Given the description of an element on the screen output the (x, y) to click on. 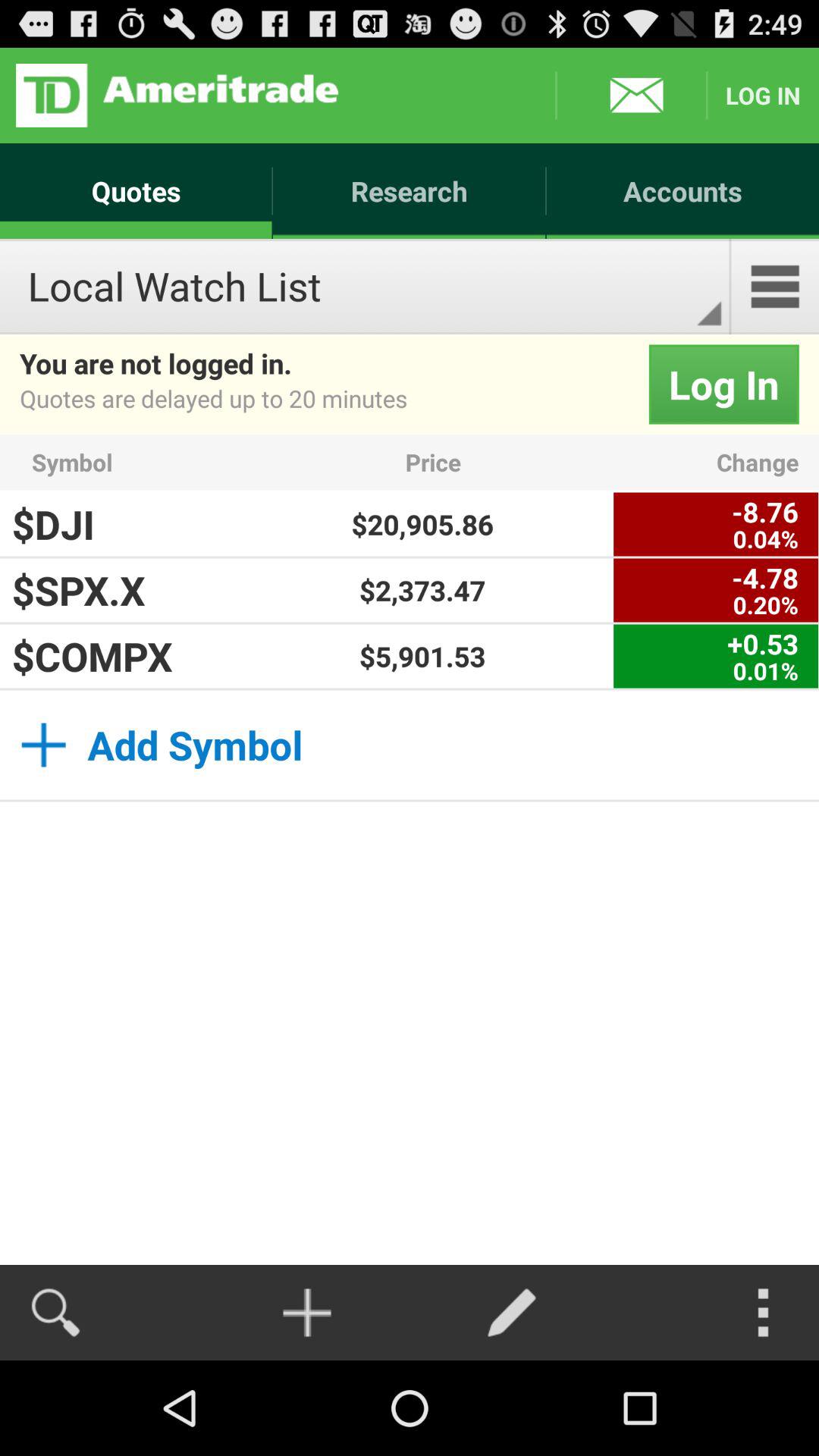
select the icon above log in item (775, 286)
